Given the description of an element on the screen output the (x, y) to click on. 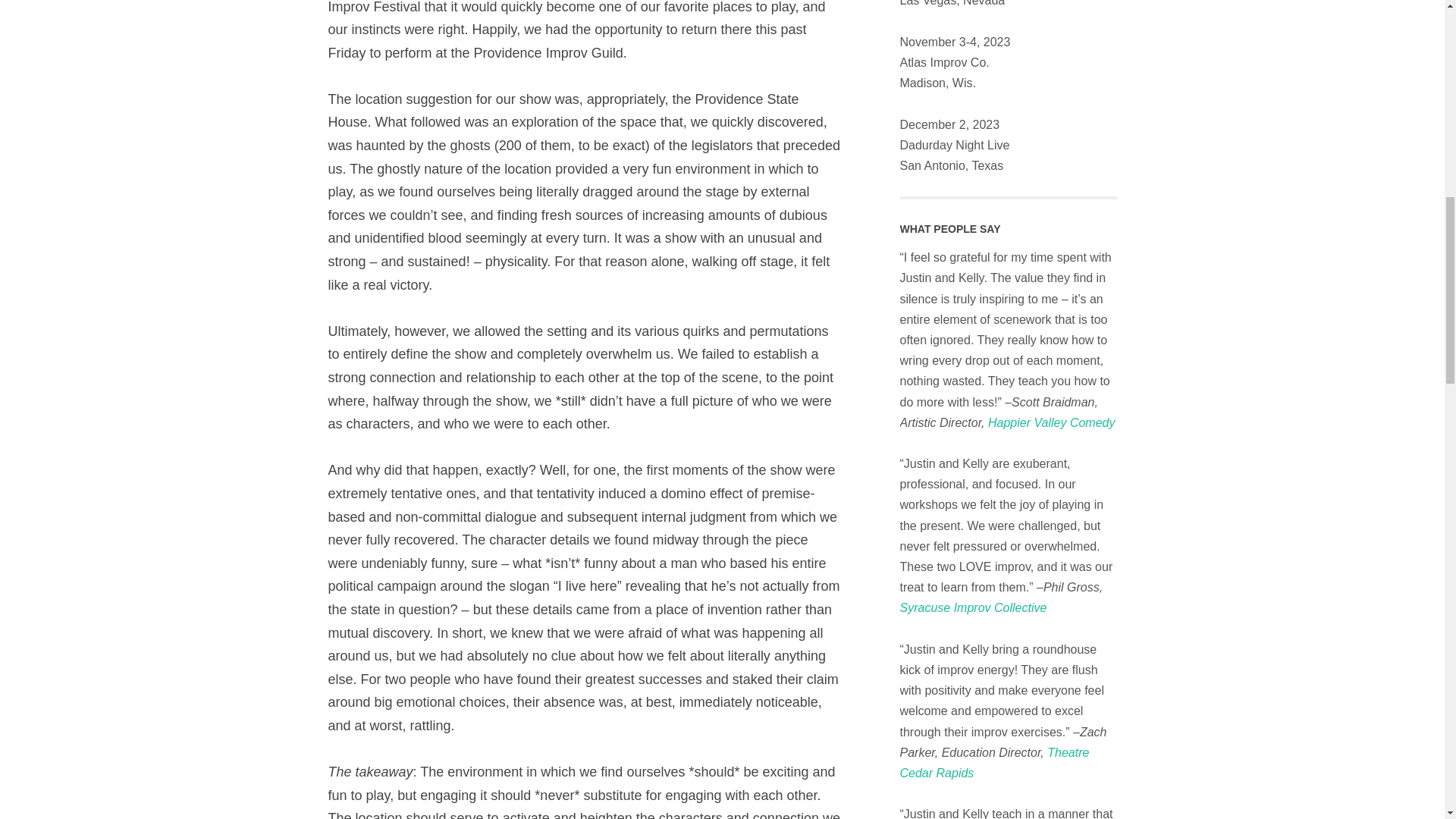
Theatre Cedar Rapids (994, 762)
Syracuse Improv Collective (972, 607)
Happier Valley Comedy (1051, 422)
